Given the description of an element on the screen output the (x, y) to click on. 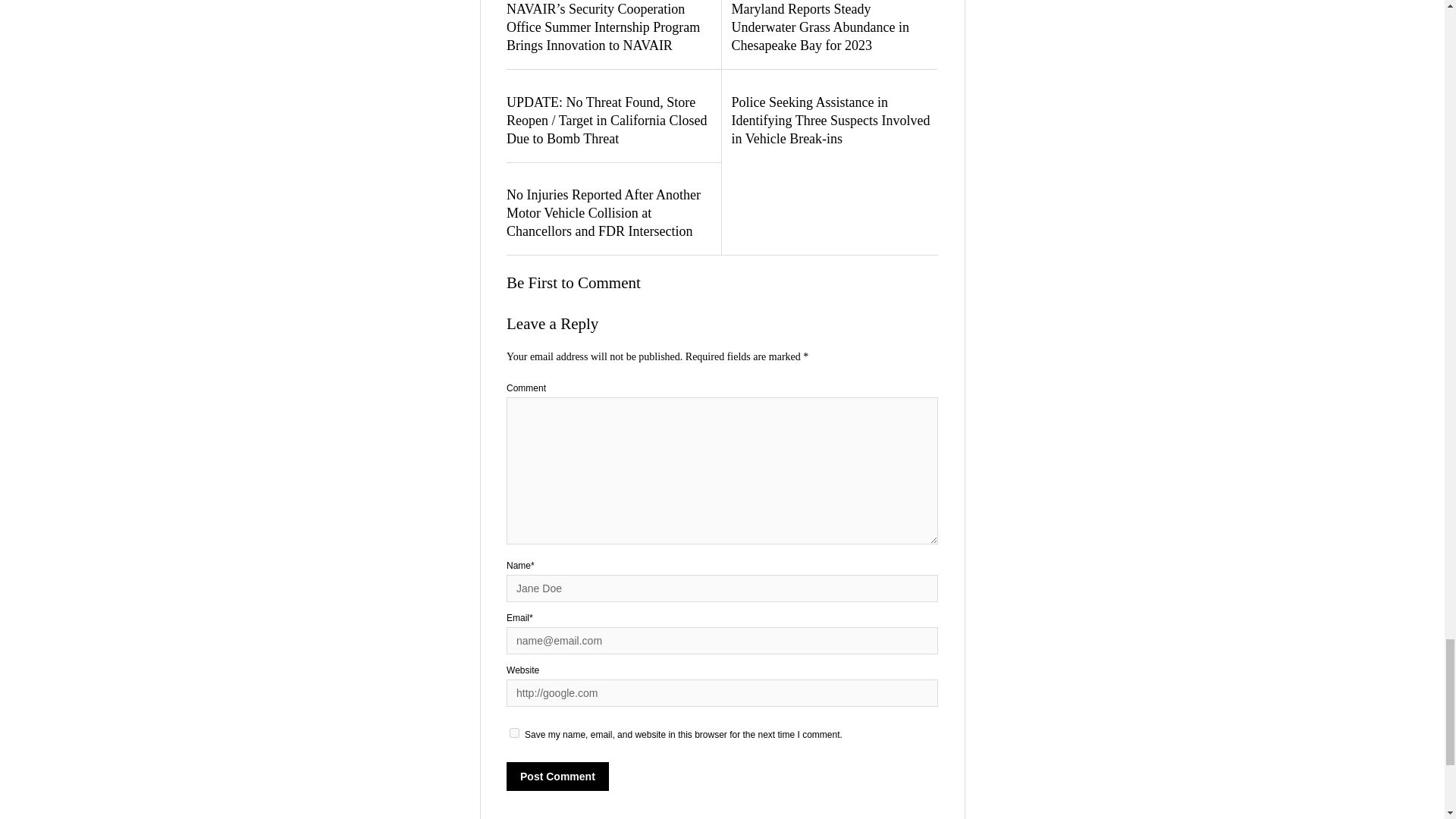
yes (514, 732)
Post Comment (557, 776)
